Given the description of an element on the screen output the (x, y) to click on. 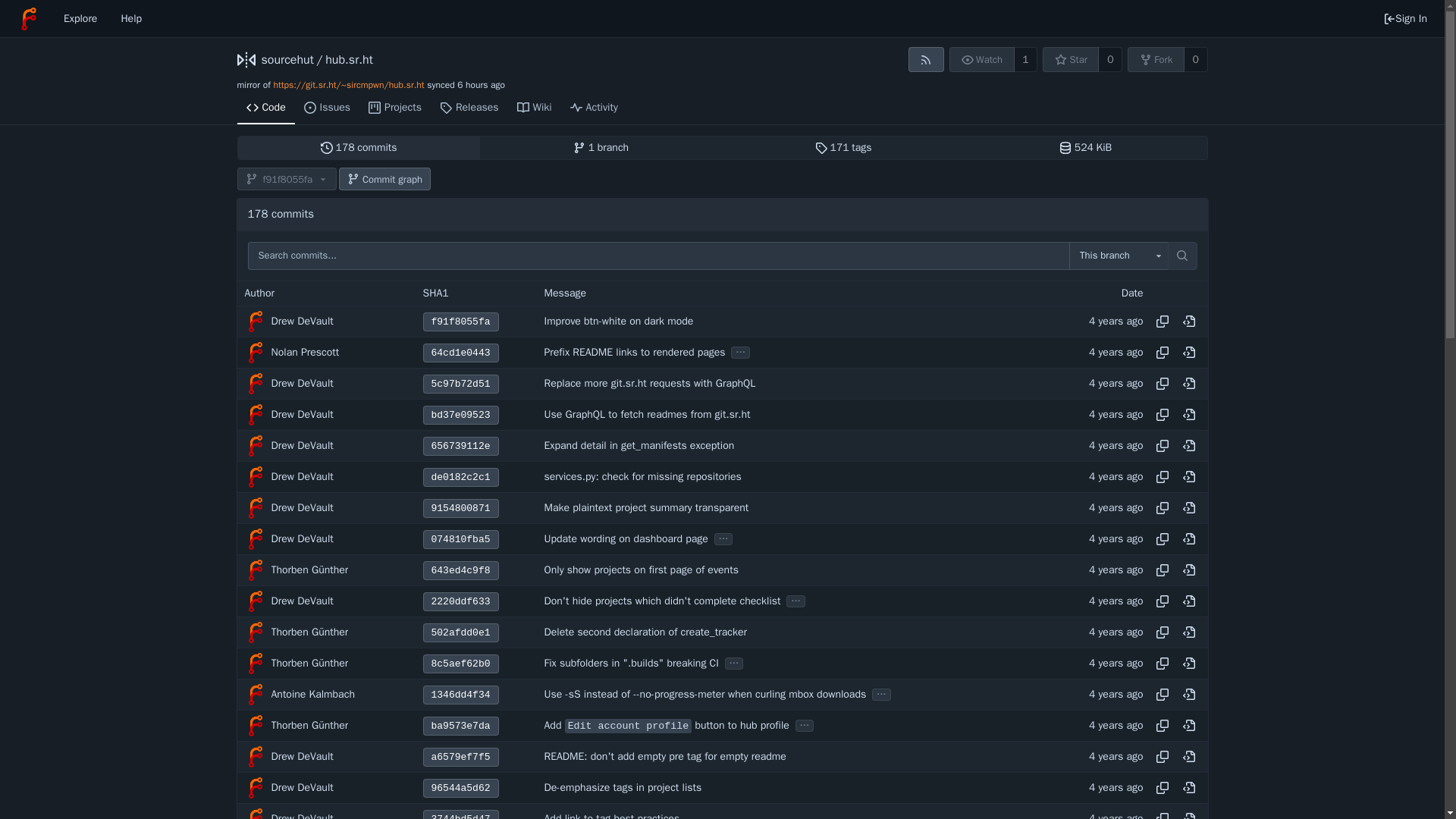
Activity (593, 108)
Drew DeVault (254, 414)
Prefix README links to rendered pages (634, 351)
5c97b72d51 (461, 383)
f91f8055fa (285, 178)
Commit graph (384, 178)
Explore (79, 17)
Wiki (534, 108)
f91f8055fa (461, 321)
Prefix README links to rendered pages (634, 351)
